Given the description of an element on the screen output the (x, y) to click on. 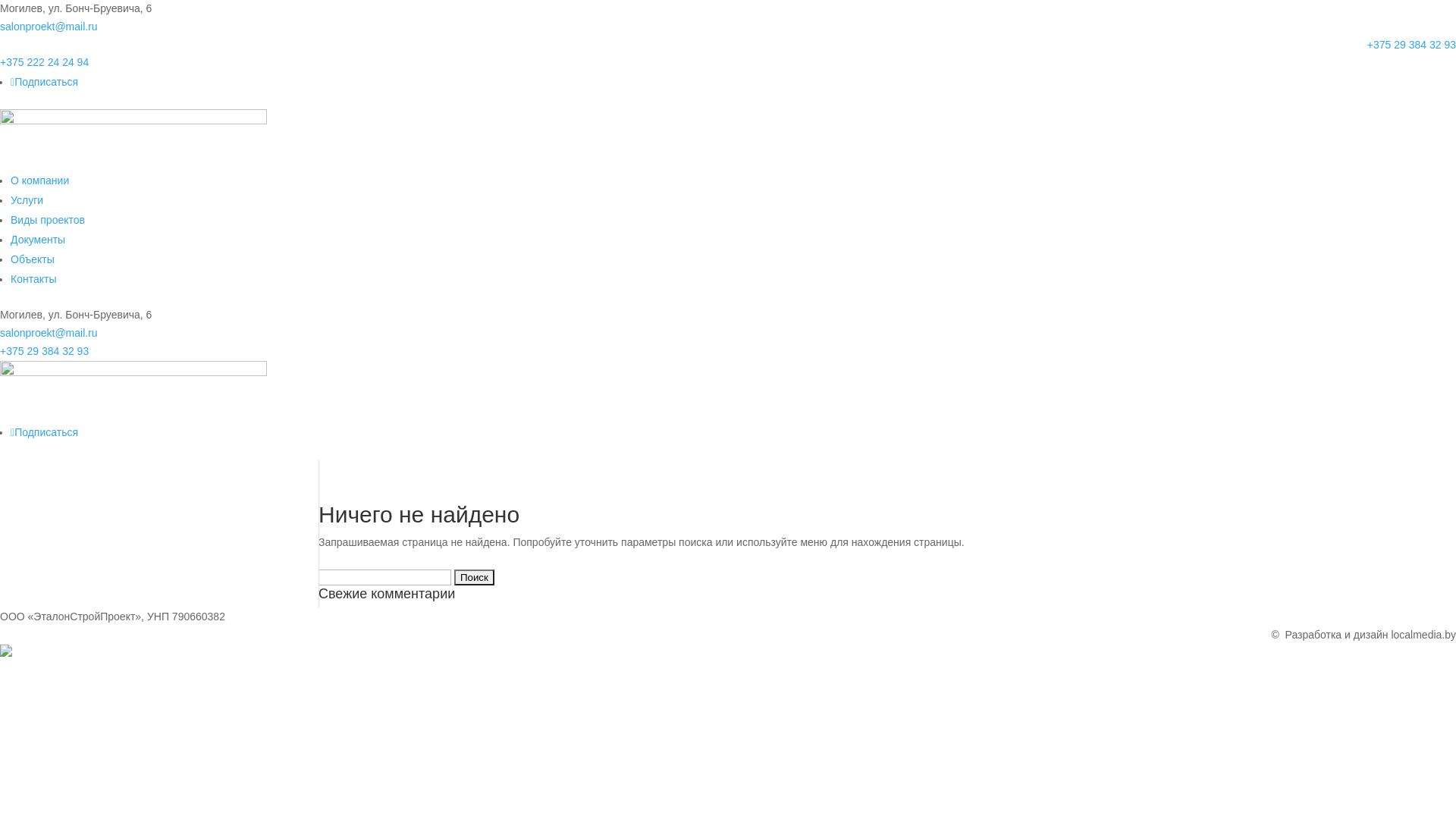
New Project Element type: hover (133, 391)
salonproekt@mail.ru Element type: text (48, 26)
New Project Element type: hover (133, 139)
salonproekt@mail.ru Element type: text (48, 332)
+375 222 24 24 94 Element type: text (44, 62)
+375 29 384 32 93 Element type: text (44, 351)
